Given the description of an element on the screen output the (x, y) to click on. 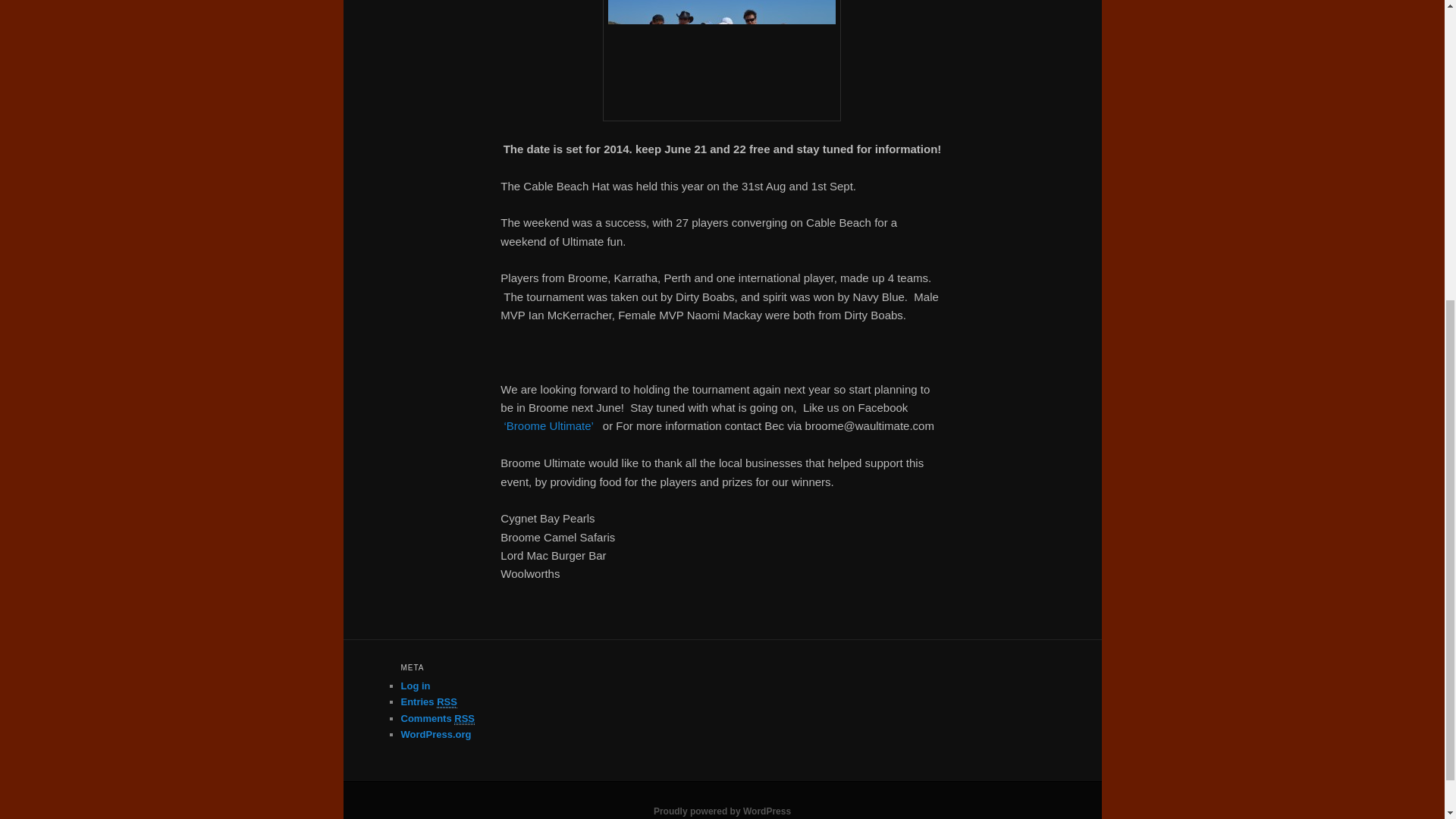
Log in (414, 685)
Semantic Personal Publishing Platform (721, 810)
Entries RSS (428, 702)
Really Simple Syndication (464, 717)
Proudly powered by WordPress (721, 810)
Really Simple Syndication (446, 702)
WordPress.org (435, 734)
Comments RSS (437, 717)
